Given the description of an element on the screen output the (x, y) to click on. 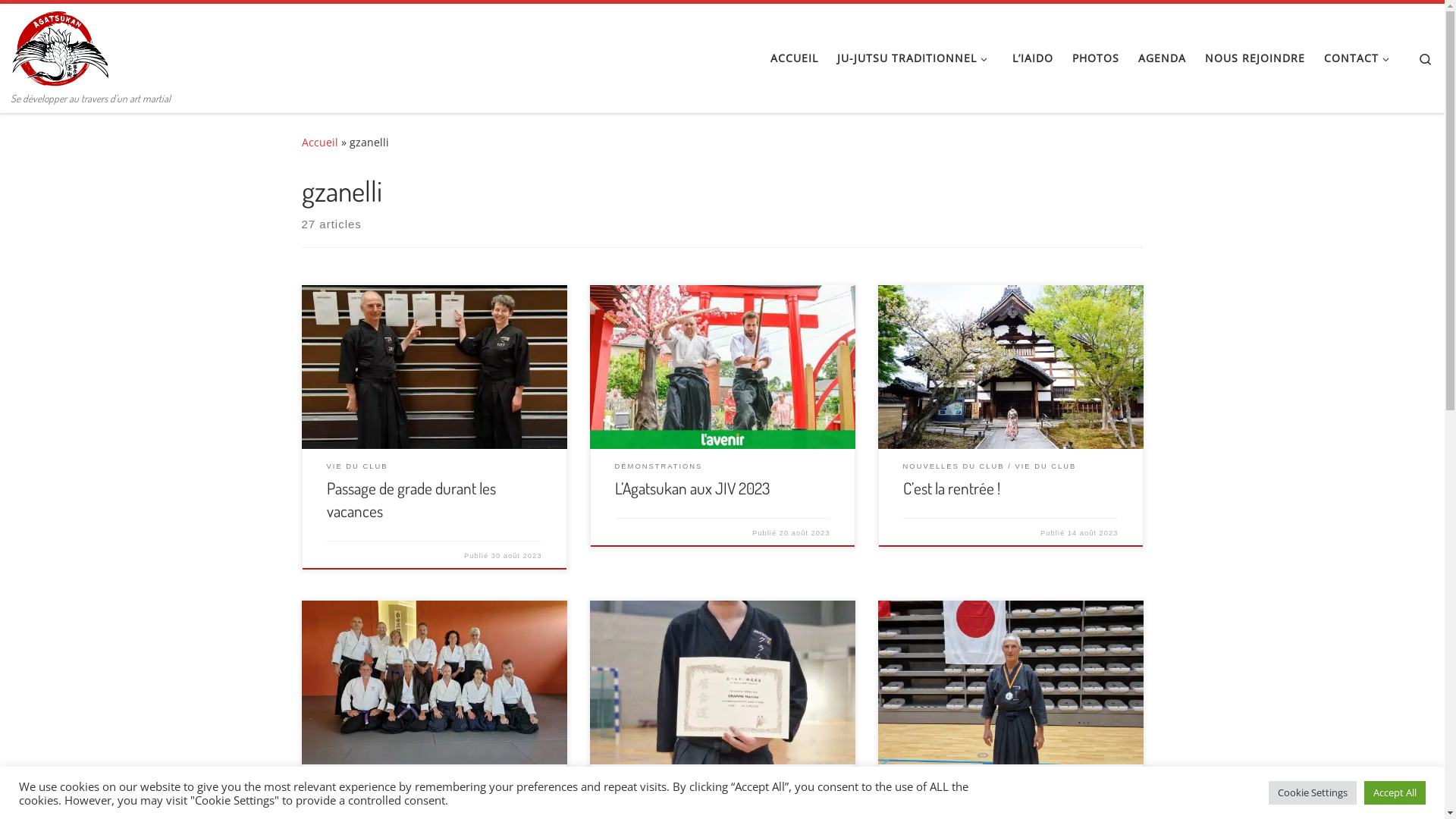
VIE DU CLUB Element type: text (357, 466)
VIE DU CLUB Element type: text (1045, 466)
NOUVEAUX GRADES Element type: text (662, 781)
ACCUEIL Element type: text (794, 58)
CONTACT Element type: text (1358, 58)
Search Element type: text (1424, 57)
NOUVELLES DU CLUB Element type: text (953, 466)
Cookie Settings Element type: text (1312, 792)
PHOTOS Element type: text (1094, 58)
Un nouveau 1er Dan en iaido ! Element type: text (703, 803)
JU-JUTSU TRADITIONNEL Element type: text (914, 58)
Skip to content Element type: text (59, 21)
NOUVEAUX GRADES Element type: text (373, 781)
AGENDA Element type: text (1161, 58)
NOUS REJOINDRE Element type: text (1254, 58)
Accept All Element type: text (1394, 792)
Passage de grade durant les vacances Element type: text (410, 498)
Accueil Element type: text (319, 141)
